Given the description of an element on the screen output the (x, y) to click on. 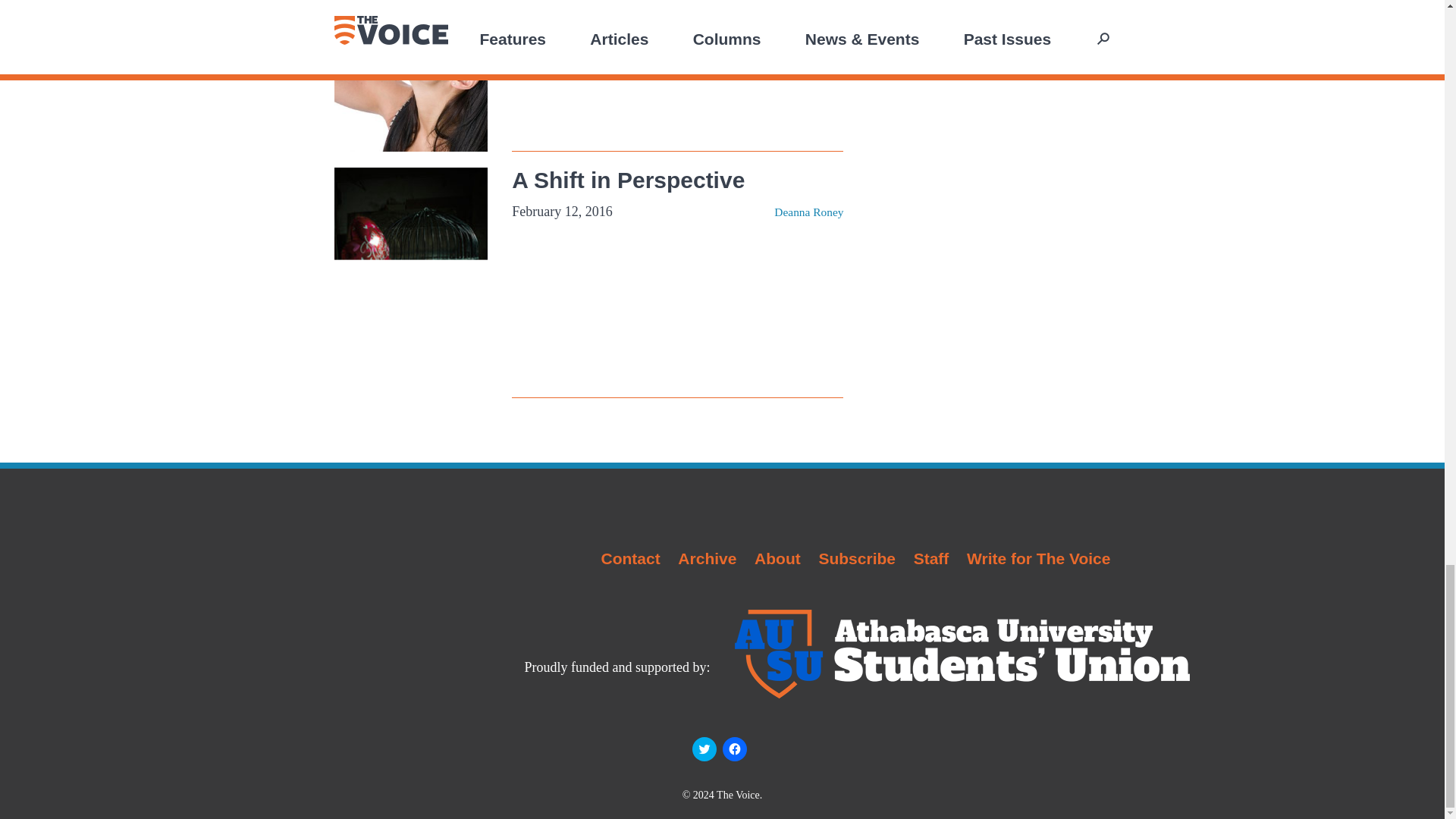
A Shift in Perspective (628, 179)
Posts by Deanna Roney (808, 211)
Posts by Barbara Lehtiniemi (797, 67)
More than a Mouthful (626, 35)
Barbara Lehtiniemi (797, 67)
Deanna Roney (808, 211)
